Given the description of an element on the screen output the (x, y) to click on. 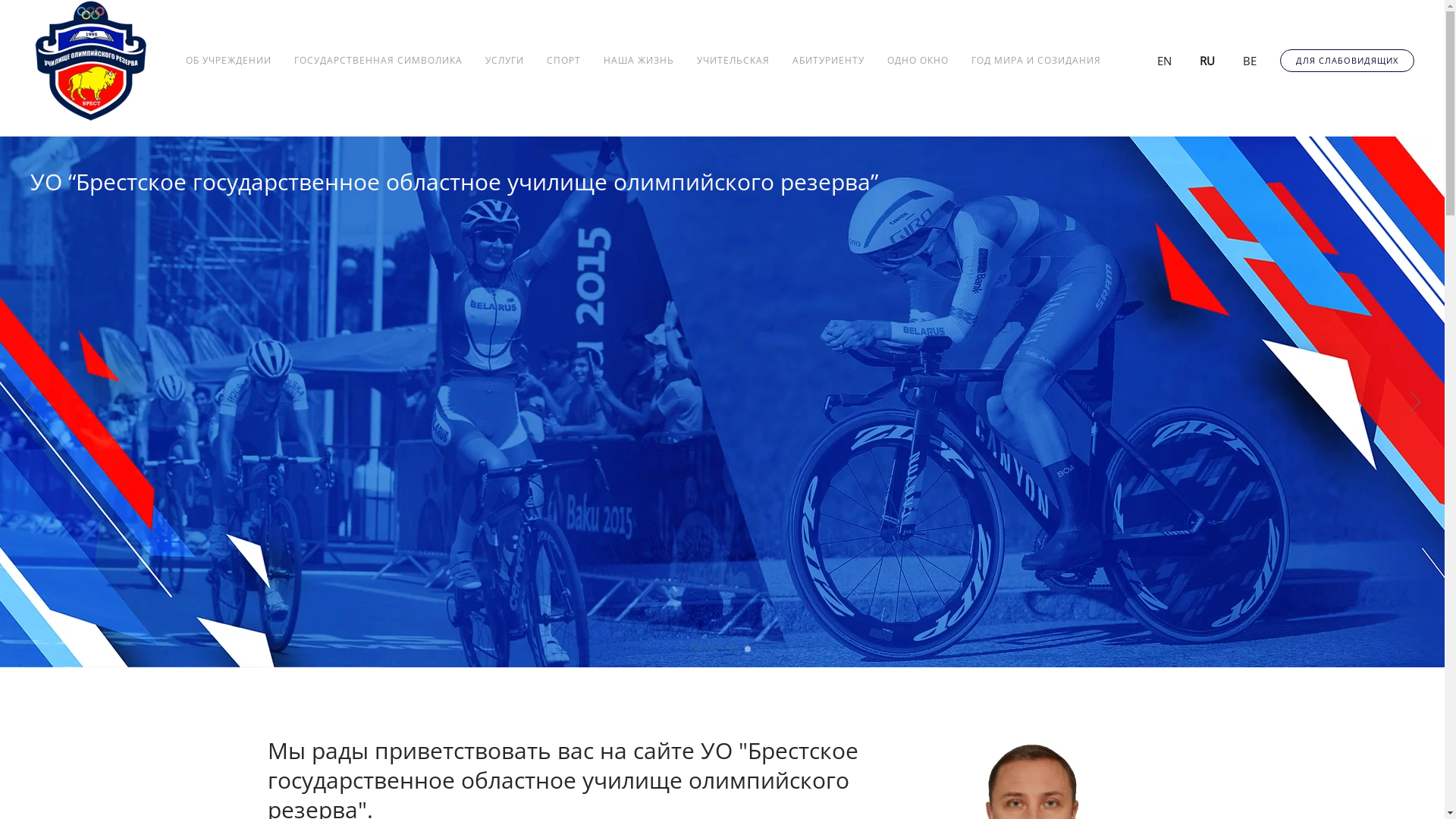
EN Element type: text (1155, 59)
BE Element type: text (1240, 59)
RU Element type: text (1197, 59)
